Given the description of an element on the screen output the (x, y) to click on. 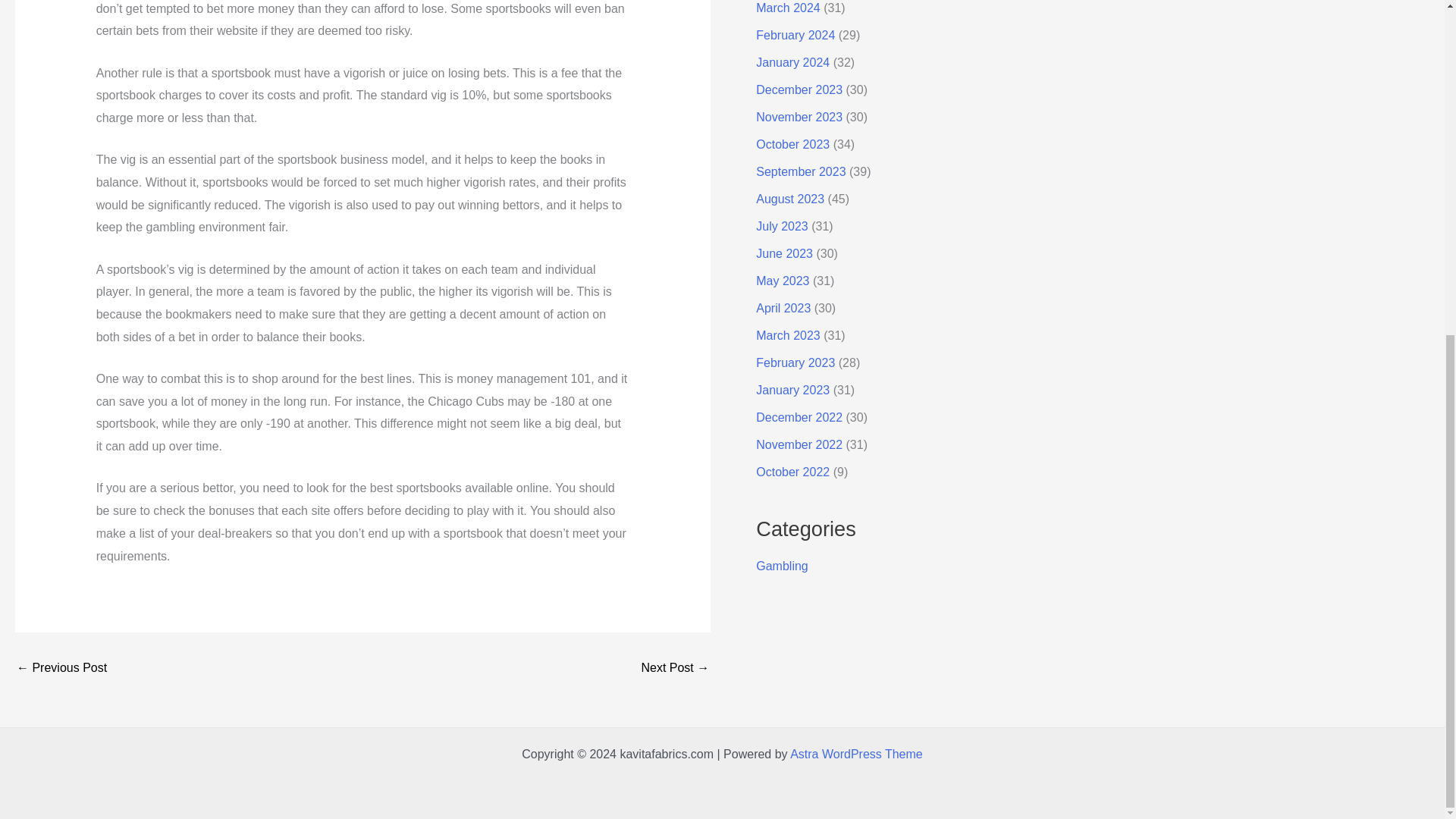
August 2023 (789, 198)
September 2023 (800, 171)
November 2022 (799, 444)
March 2023 (788, 335)
November 2023 (799, 116)
July 2023 (781, 226)
Astra WordPress Theme (856, 753)
The Importance of Poker (674, 667)
January 2023 (792, 390)
October 2022 (792, 472)
December 2023 (799, 89)
May 2023 (782, 280)
Gambling (781, 565)
March 2024 (788, 7)
June 2023 (783, 253)
